Given the description of an element on the screen output the (x, y) to click on. 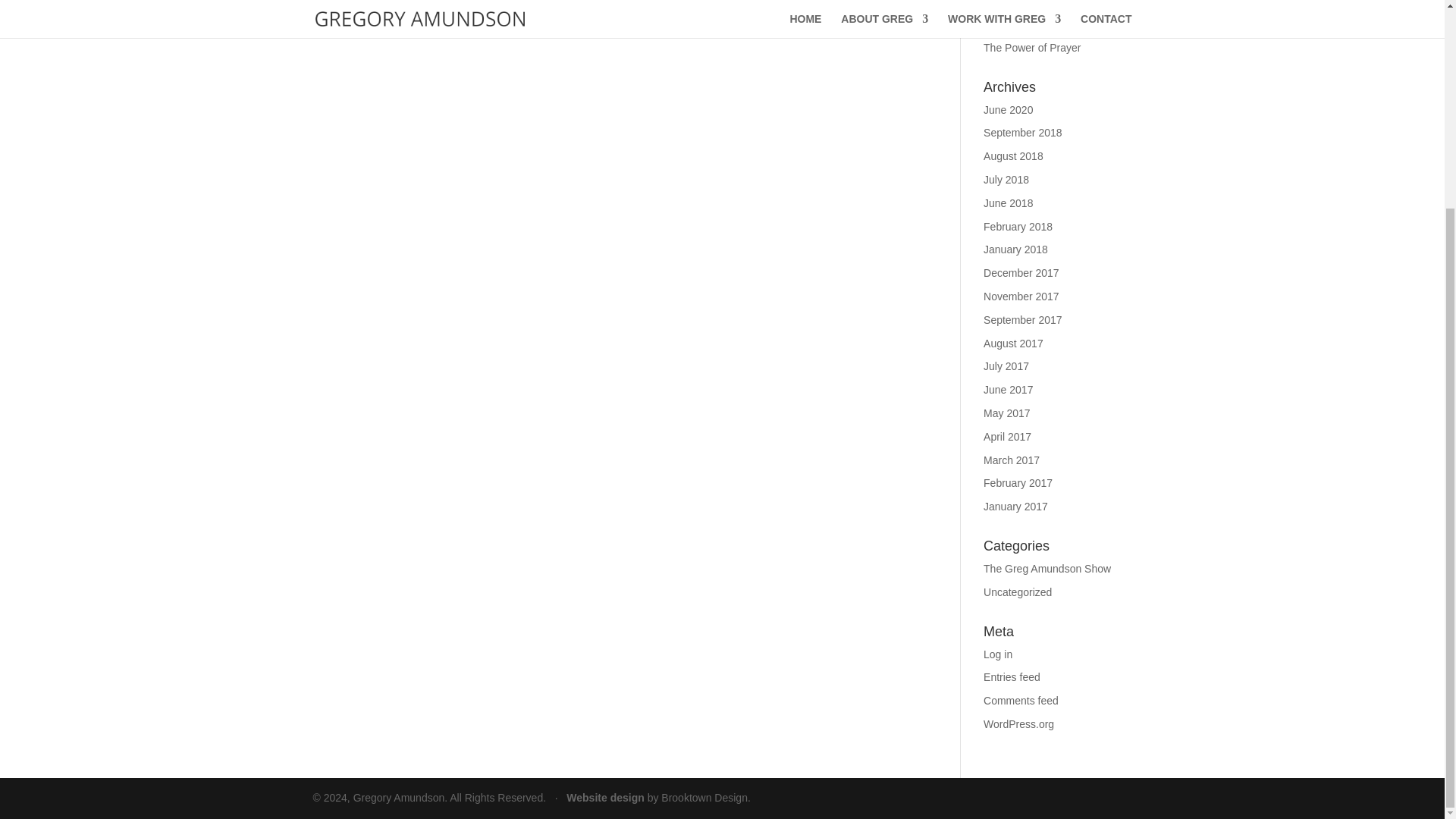
The Power of Prayer (1032, 47)
June 2017 (1008, 389)
August 2018 (1013, 155)
June 2018 (1008, 203)
November 2017 (1021, 296)
December 2017 (1021, 272)
January 2018 (1016, 249)
July 2018 (1006, 179)
February 2018 (1018, 226)
July 2017 (1006, 366)
